Given the description of an element on the screen output the (x, y) to click on. 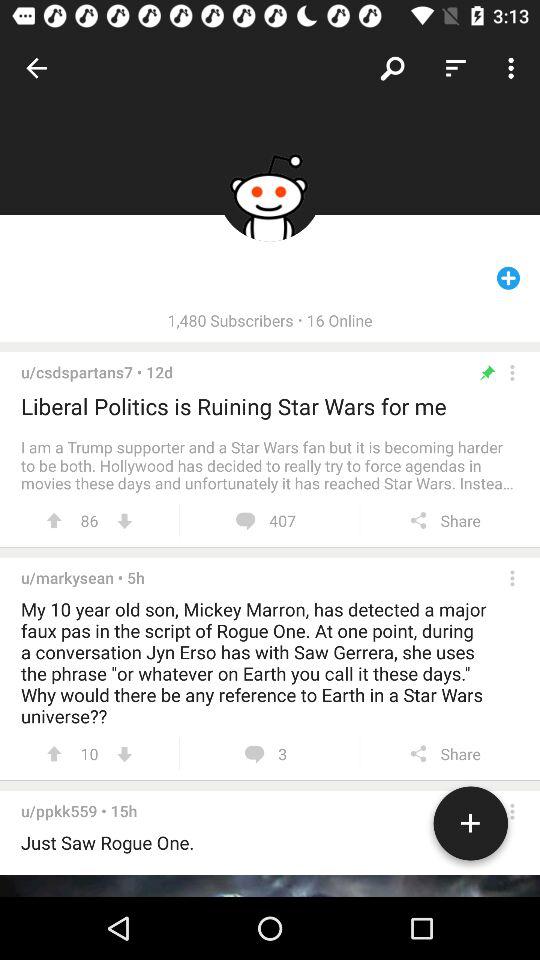
downvote this post (124, 520)
